Given the description of an element on the screen output the (x, y) to click on. 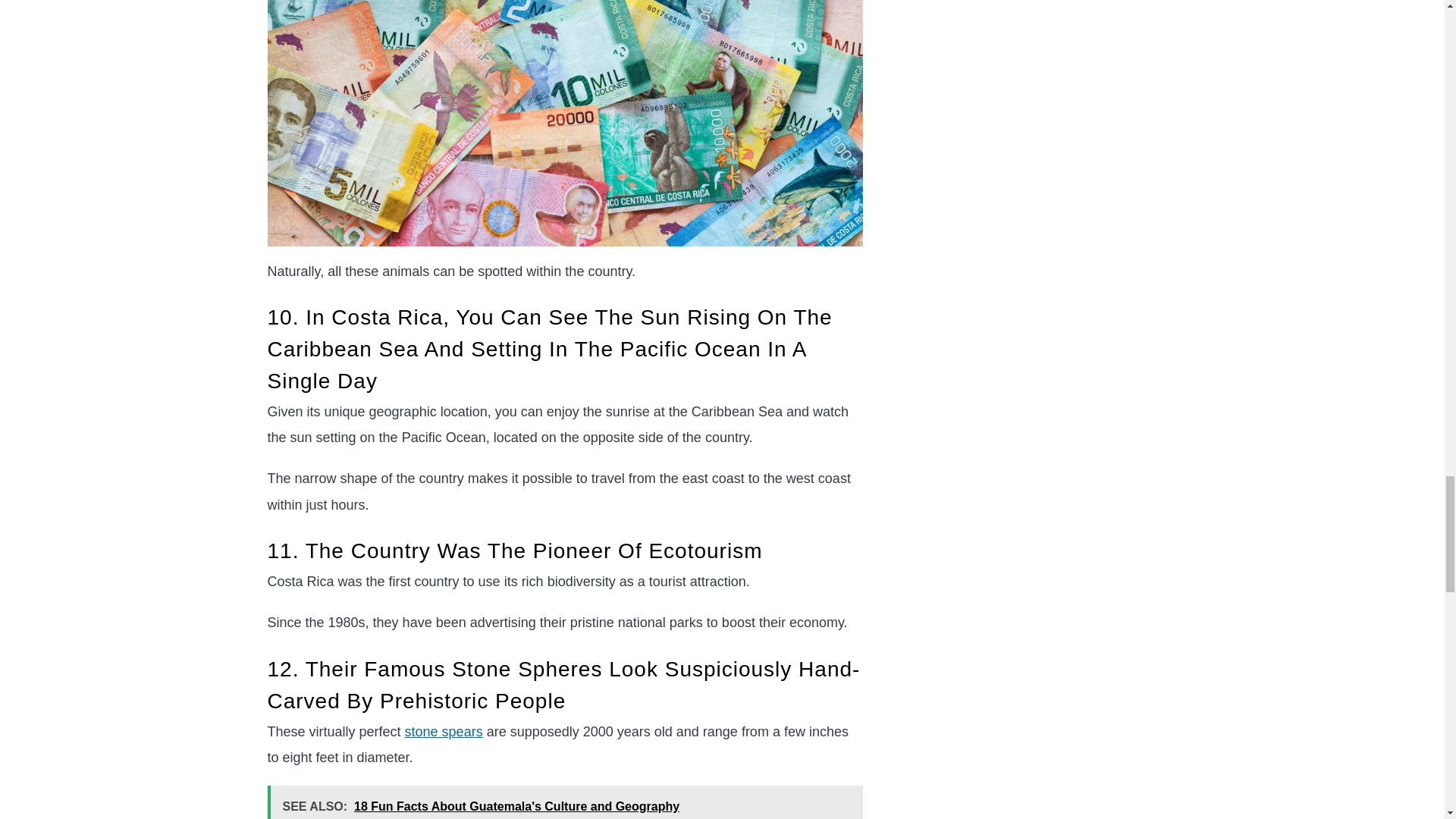
stone spears (443, 731)
